Given the description of an element on the screen output the (x, y) to click on. 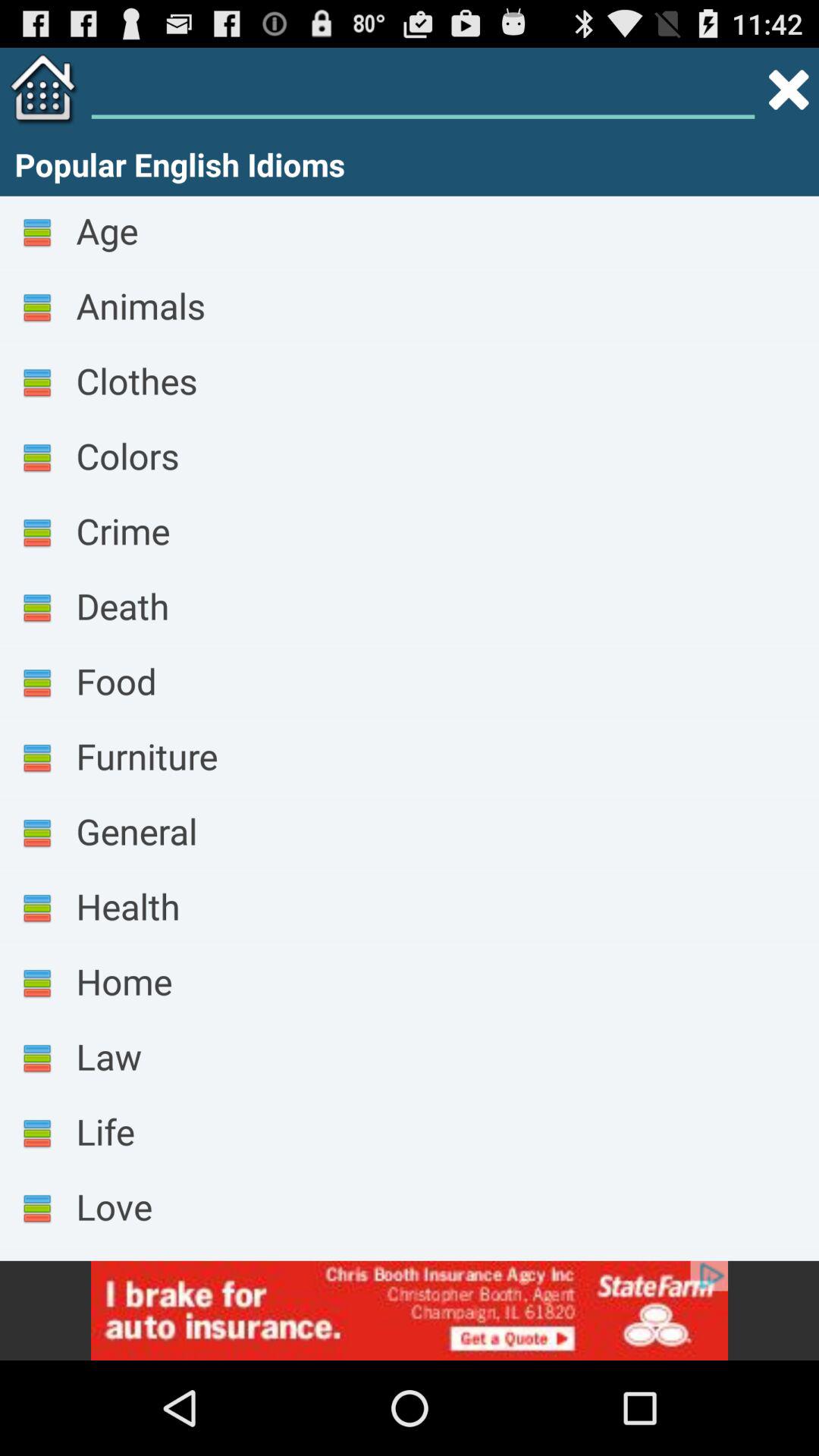
select icon which is before animals (37, 308)
click on the icon which is left side of life (37, 1134)
